Given the description of an element on the screen output the (x, y) to click on. 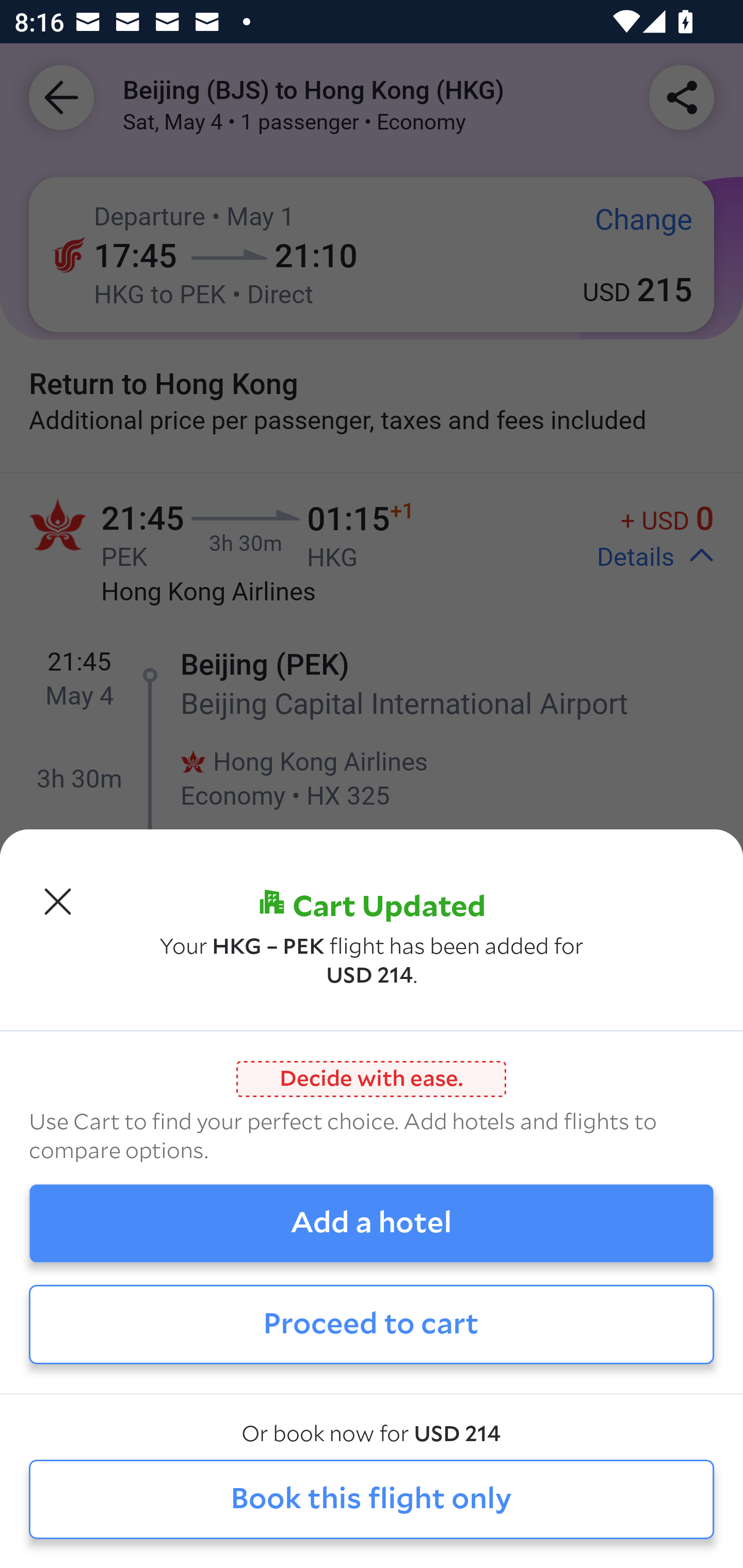
Add a hotel  Add a hotel (371, 1223)
Proceed to cart  Proceed to cart (371, 1324)
Book this flight only  Book this flight only (371, 1499)
